Given the description of an element on the screen output the (x, y) to click on. 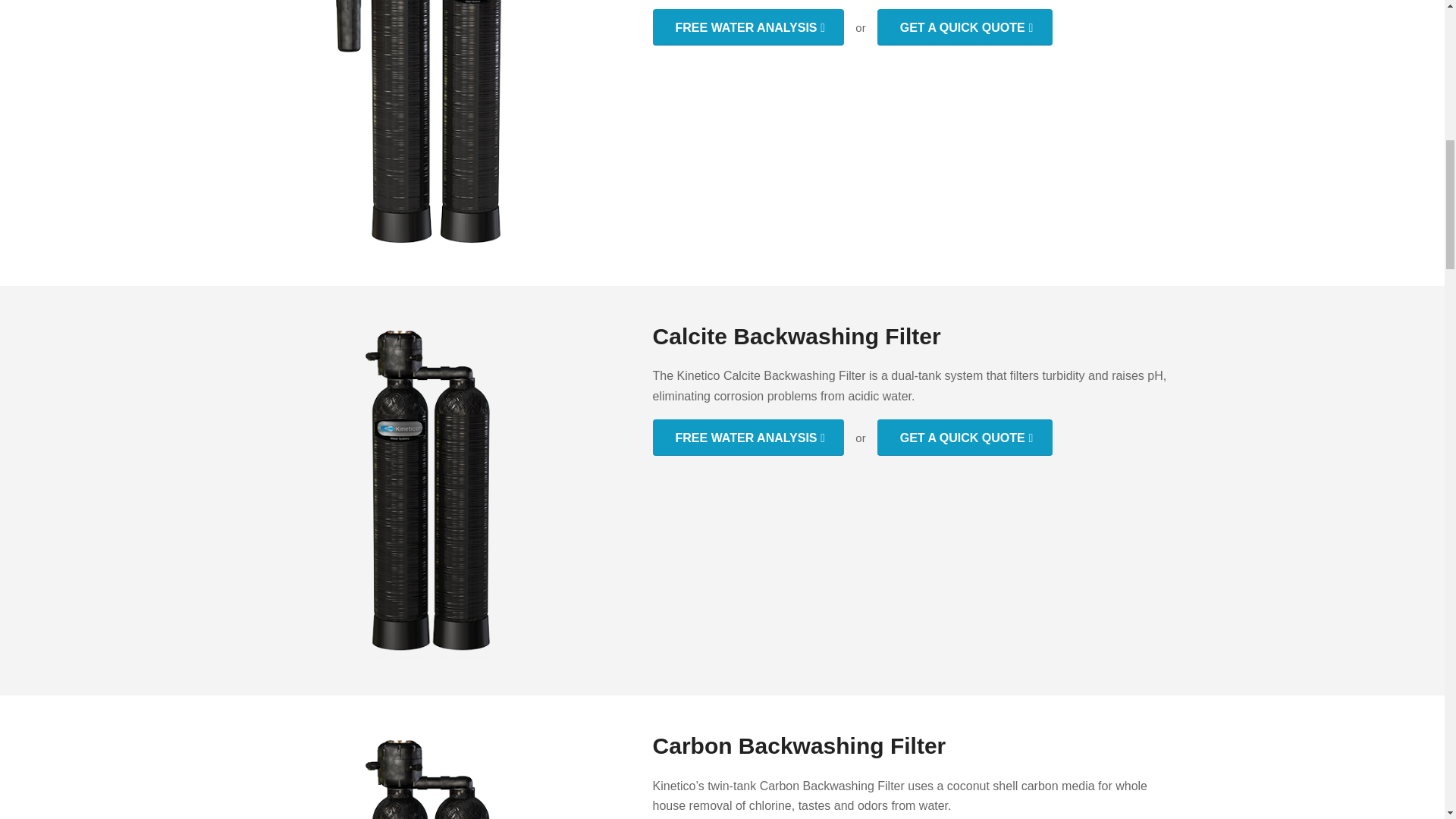
Carbon Backwashing Filter (429, 776)
GET A QUICK QUOTE (964, 437)
FREE WATER ANALYSIS (748, 27)
GET A QUICK QUOTE (964, 27)
FREE WATER ANALYSIS (748, 437)
Calcite Backwashing Filter (429, 490)
